Given the description of an element on the screen output the (x, y) to click on. 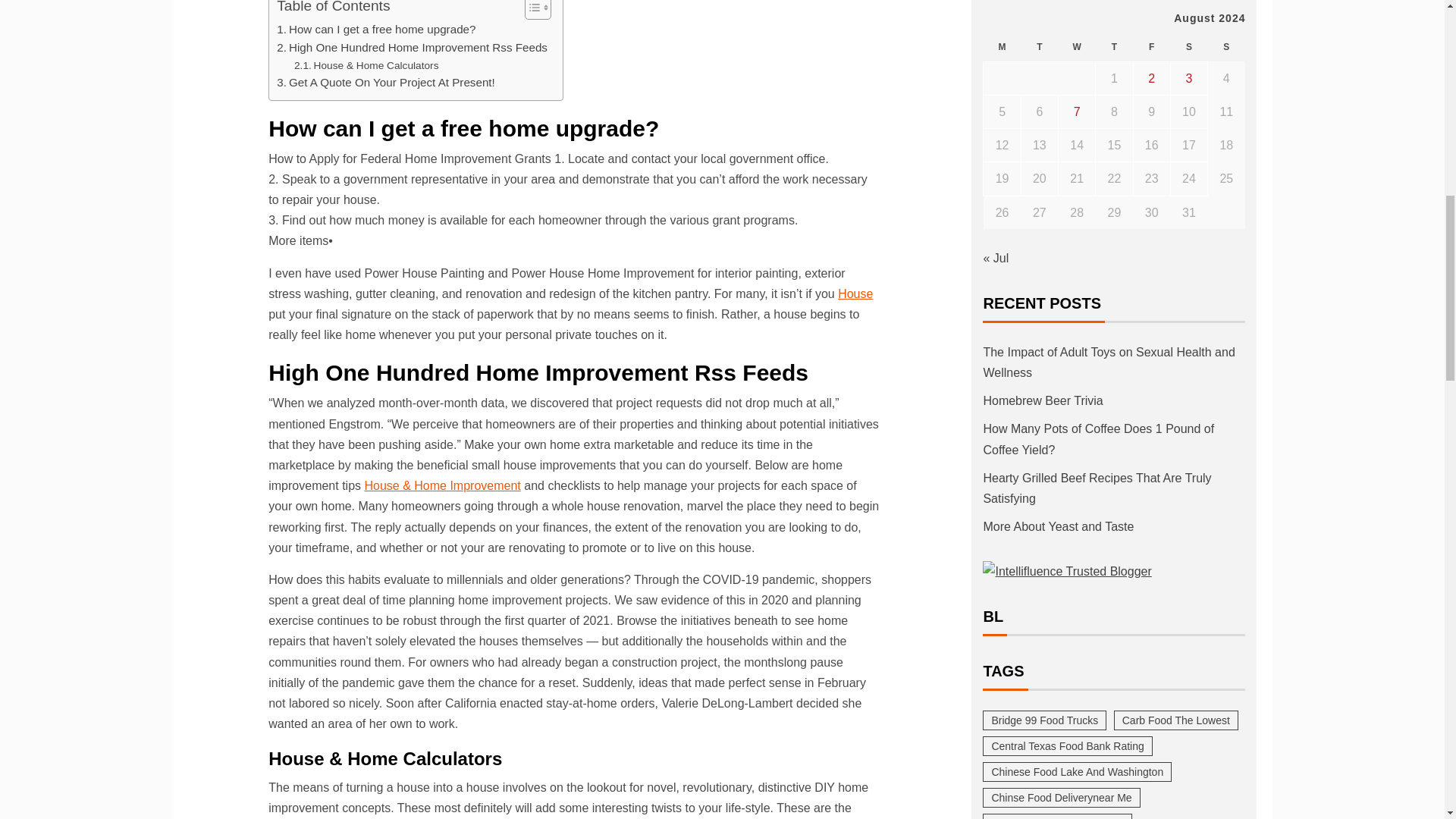
Tuesday (1039, 47)
Thursday (1114, 47)
How can I get a free home upgrade? (376, 29)
Get A Quote On Your Project At Present! (385, 82)
High One Hundred Home Improvement Rss Feeds (411, 47)
Monday (1002, 47)
How can I get a free home upgrade? (376, 29)
Get A Quote On Your Project At Present! (385, 82)
Wednesday (1077, 47)
High One Hundred Home Improvement Rss Feeds (411, 47)
House (855, 293)
